Given the description of an element on the screen output the (x, y) to click on. 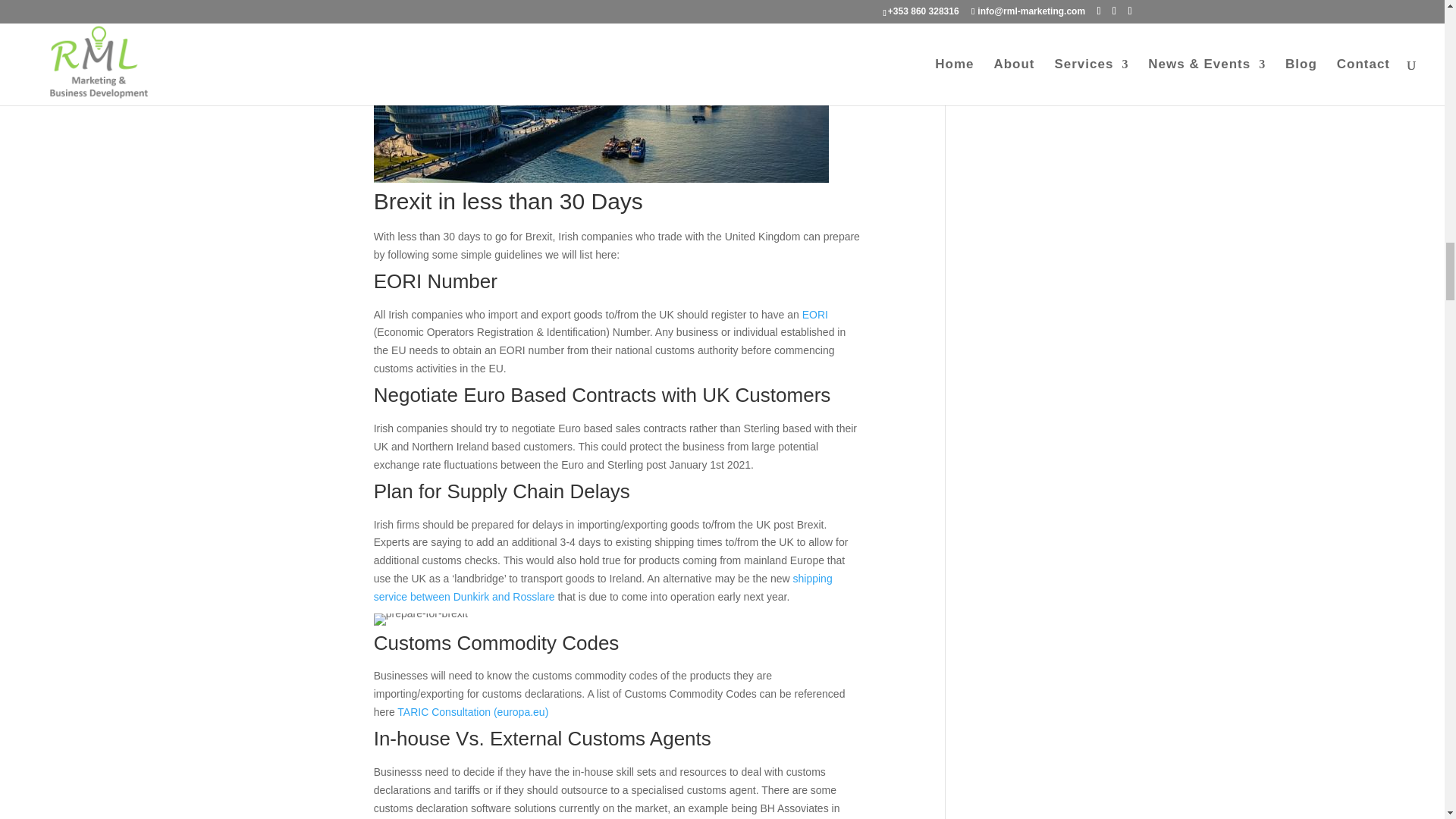
Brexit - protester (420, 619)
EORI (813, 314)
shipping service between Dunkirk and Rosslare (603, 587)
Brexit - London skyline (601, 91)
